Given the description of an element on the screen output the (x, y) to click on. 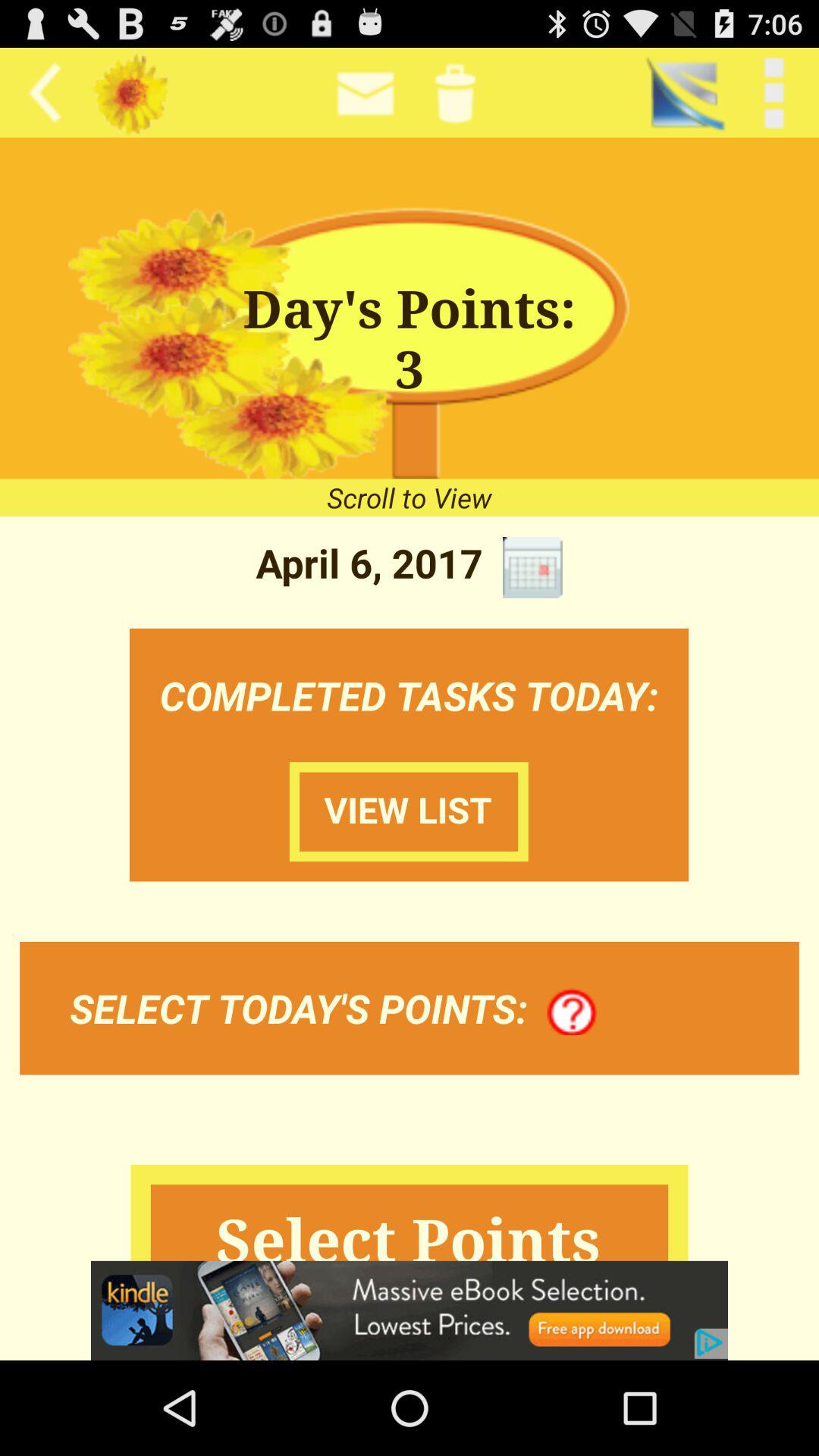
browse the calendar for another date (532, 567)
